Given the description of an element on the screen output the (x, y) to click on. 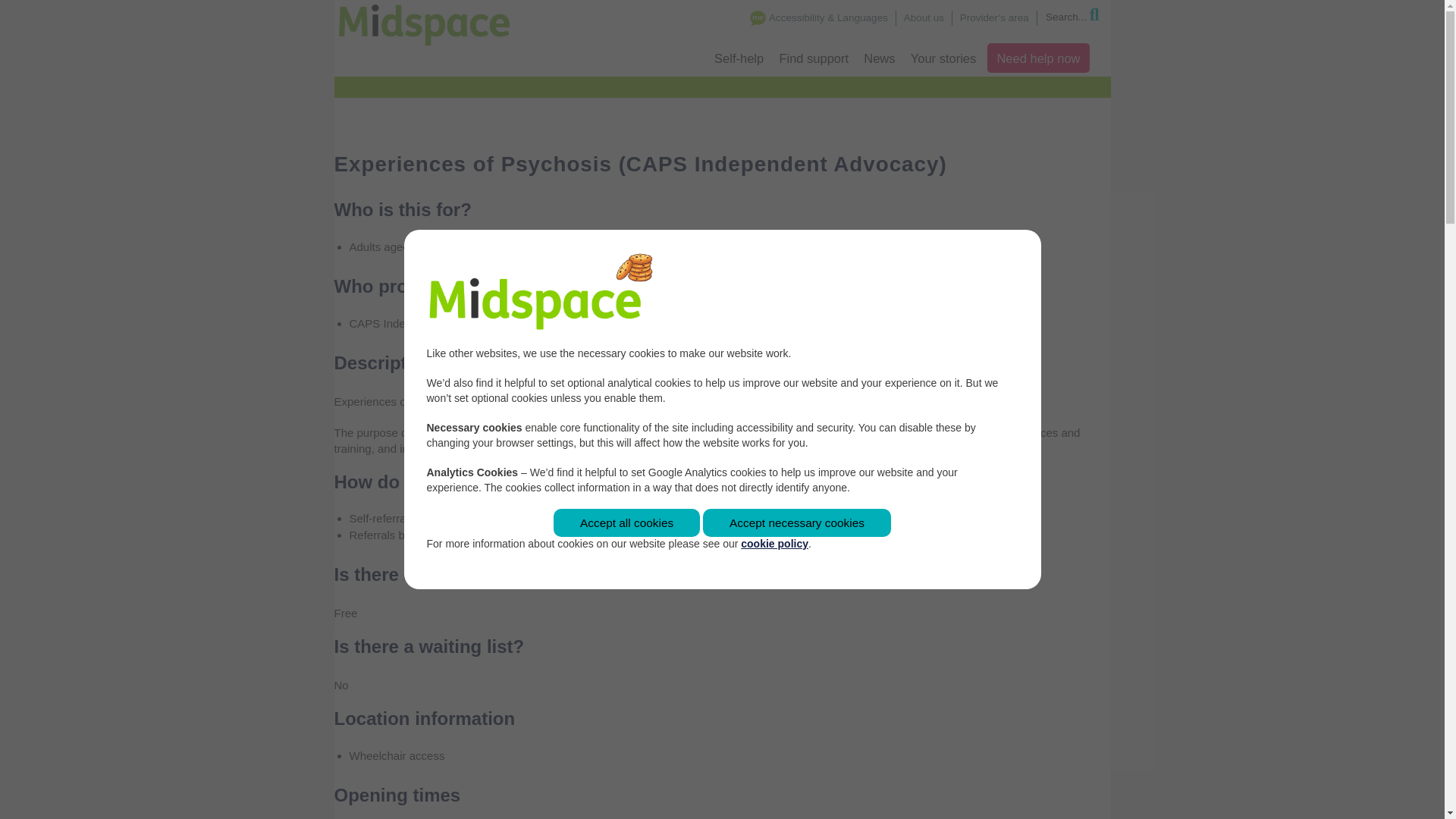
News (879, 58)
Need help now (1038, 57)
Midspace (432, 22)
Self-help (738, 58)
Accept all cookies (626, 522)
Find support (813, 58)
cookie policy (774, 543)
About us (924, 17)
Your stories (943, 58)
Accept necessary cookies (797, 522)
